Given the description of an element on the screen output the (x, y) to click on. 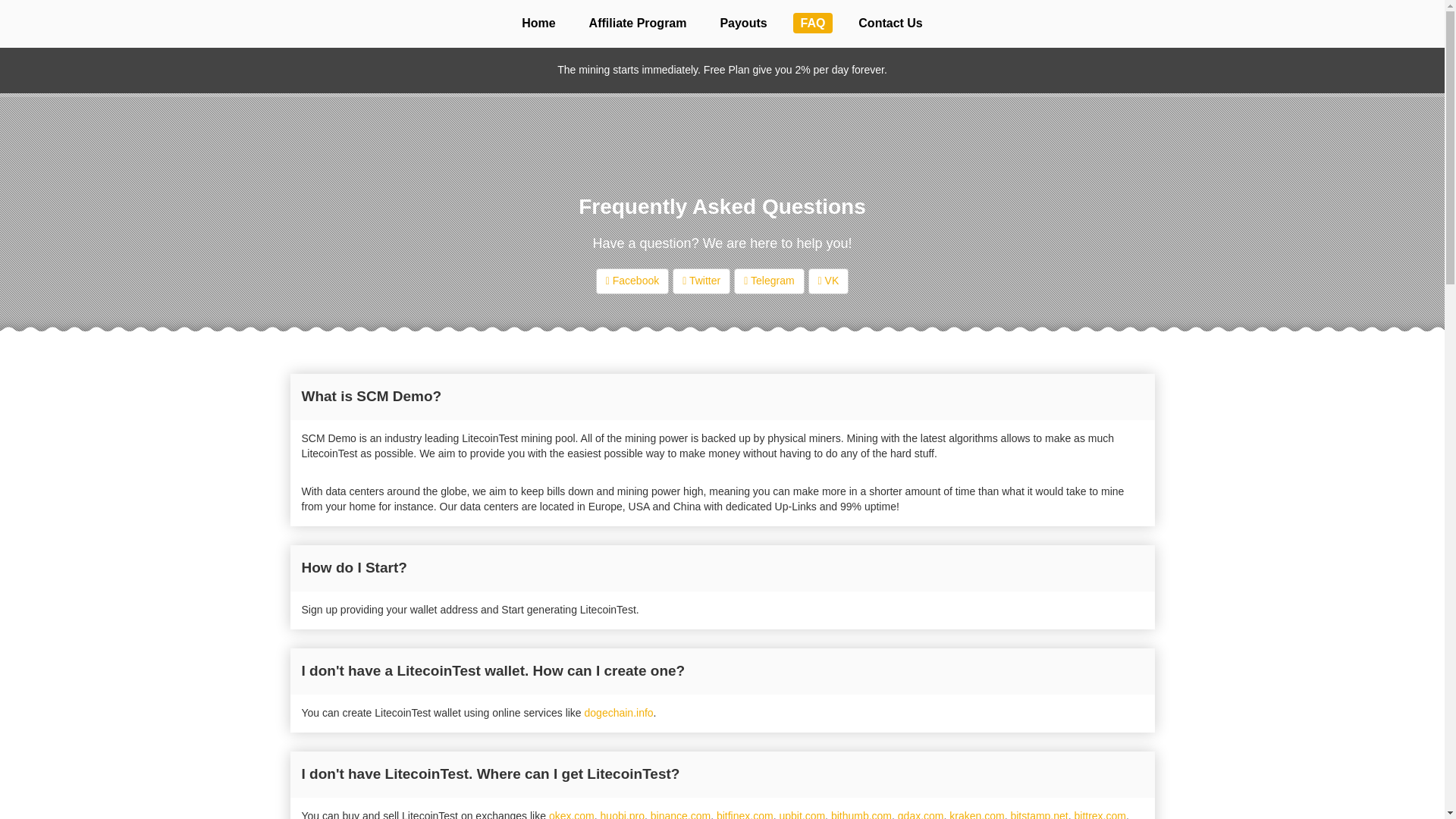
Home (537, 23)
VK (828, 281)
bithumb.com (861, 814)
Affiliate Program (637, 23)
Payouts (742, 23)
upbit.com (801, 814)
huobi.pro (622, 814)
kraken.com (976, 814)
Facebook (632, 281)
Contact Us (890, 23)
SCM Demo (721, 108)
Twitter (701, 281)
gdax.com (920, 814)
bitfinex.com (744, 814)
binance.com (680, 814)
